Given the description of an element on the screen output the (x, y) to click on. 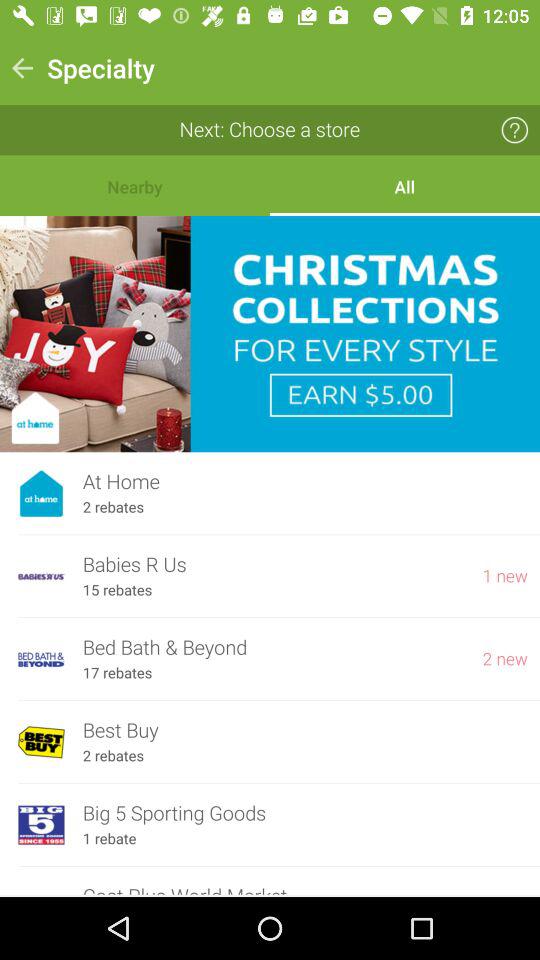
turn on the best buy icon (305, 730)
